Given the description of an element on the screen output the (x, y) to click on. 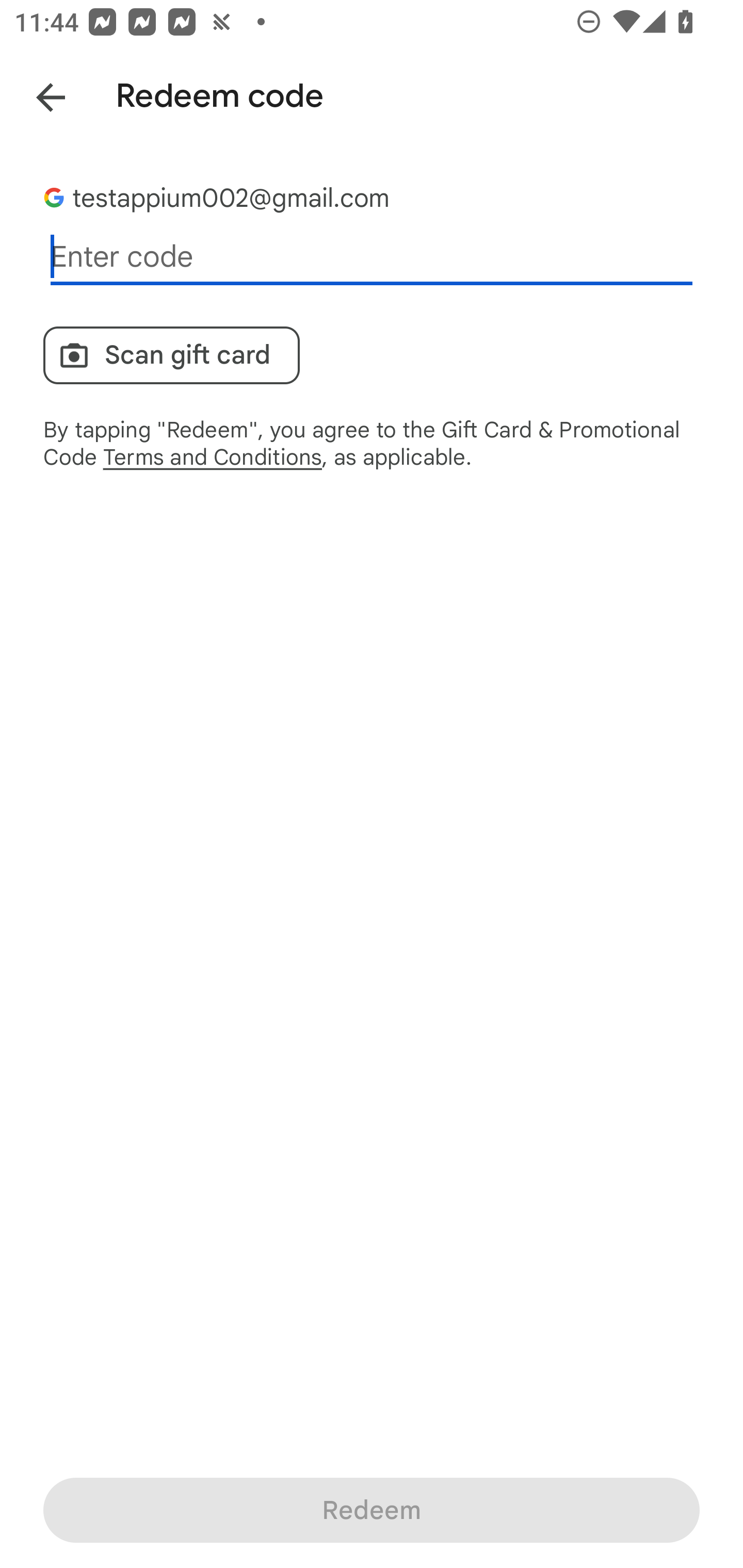
Back (36, 94)
Enter code (371, 256)
Scan gift card (171, 355)
